Given the description of an element on the screen output the (x, y) to click on. 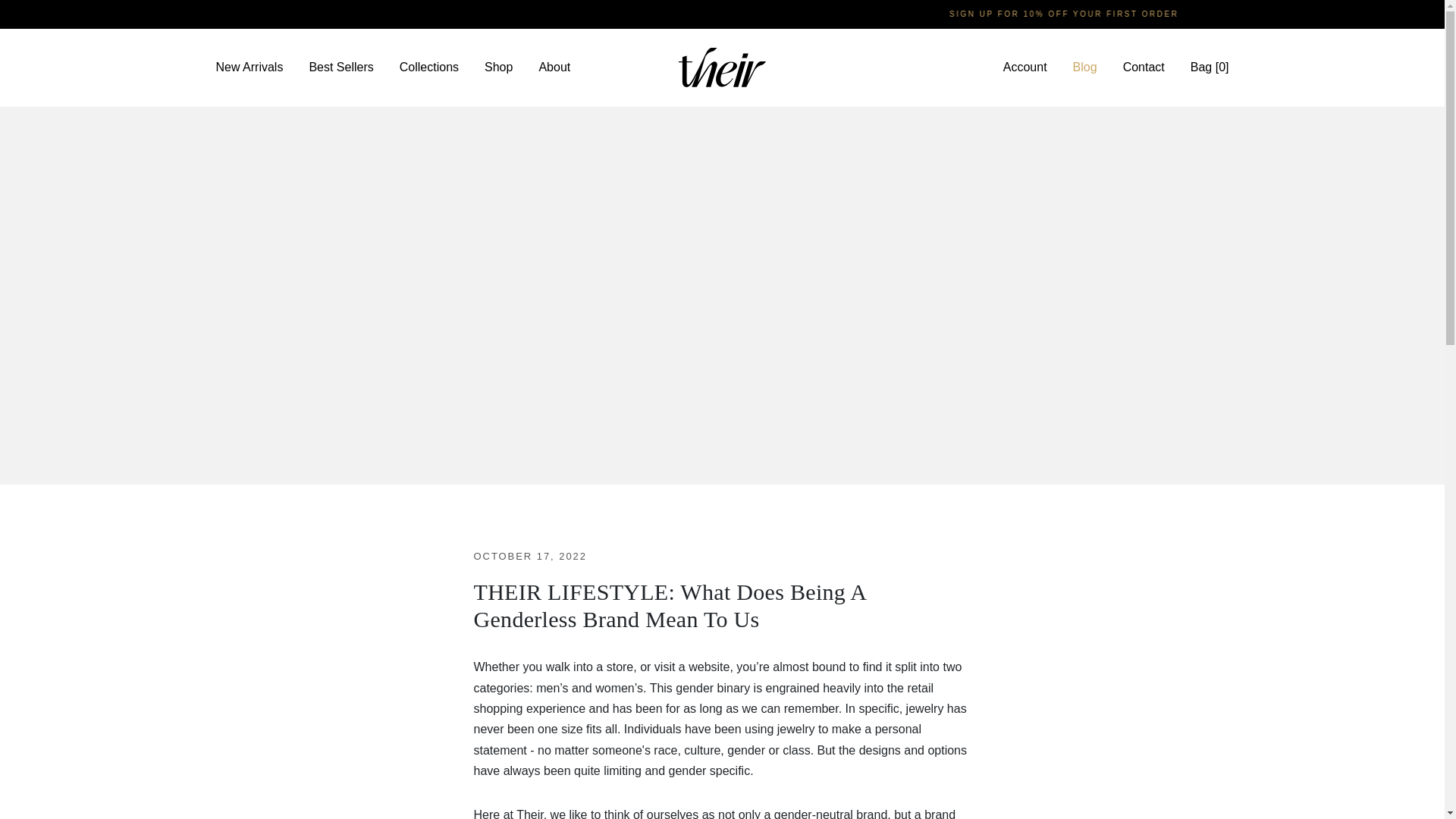
New Arrivals (250, 67)
Best Sellers (340, 67)
Collections (429, 67)
Their Home (722, 66)
